Given the description of an element on the screen output the (x, y) to click on. 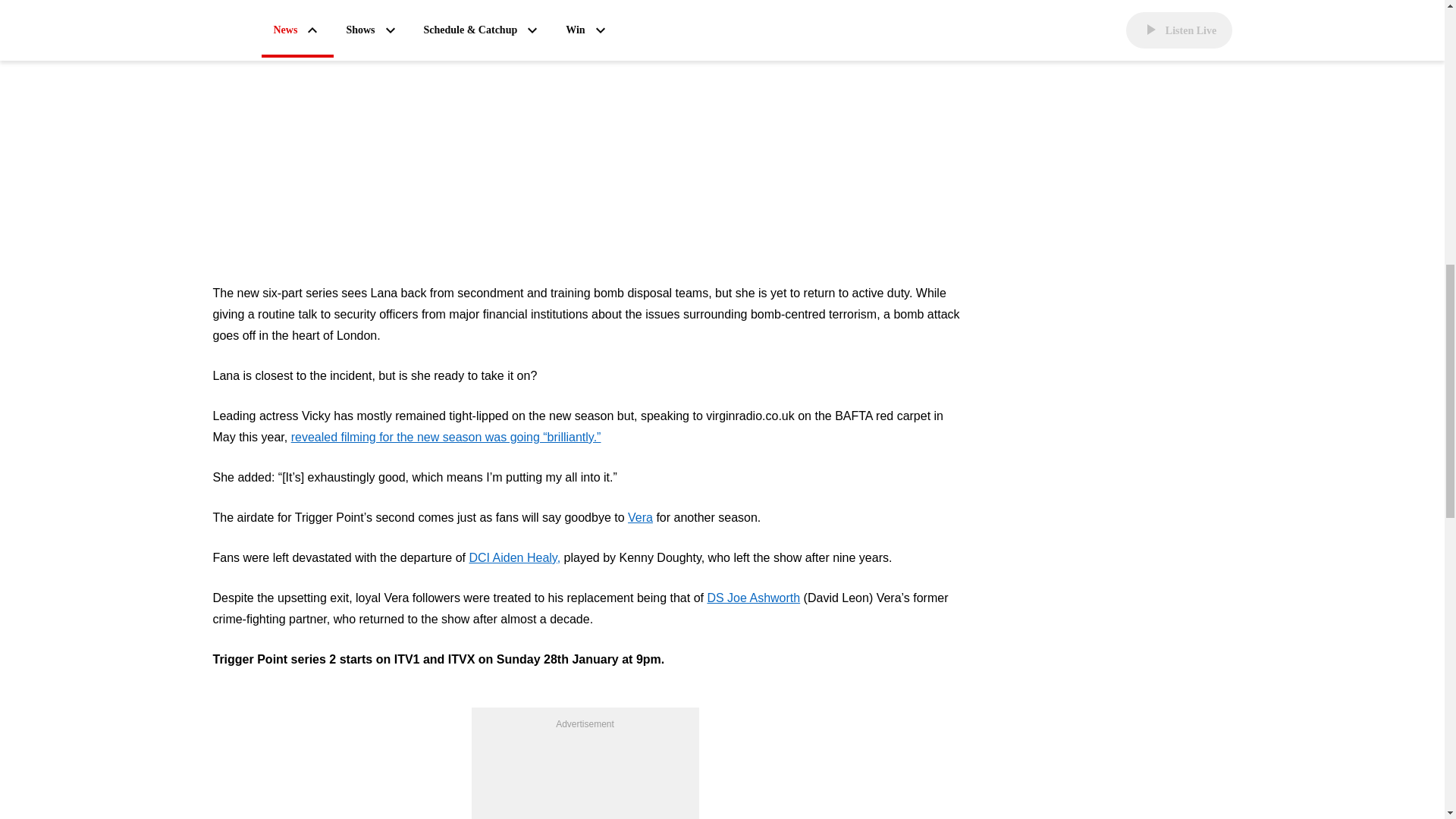
DS Joe Ashworth (752, 598)
DCI Aiden Healy, (514, 557)
Vera (639, 517)
